Given the description of an element on the screen output the (x, y) to click on. 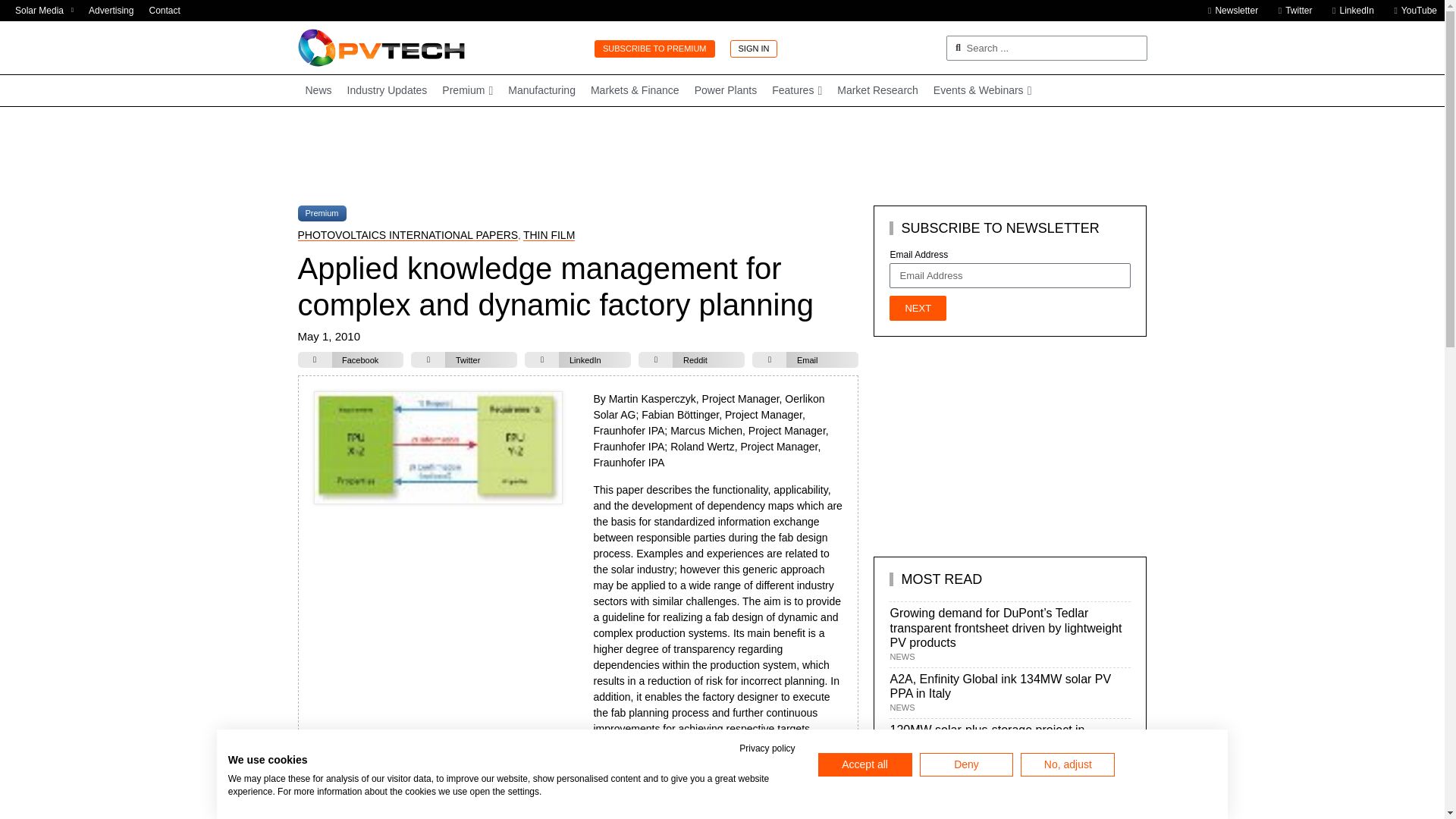
Opens in a new window (1290, 10)
YouTube (1411, 10)
Opens in a new window (1411, 10)
Opens in a new window (44, 10)
Advertising (111, 10)
Twitter (1290, 10)
Premium (466, 90)
Opens in a new window (877, 90)
SIGN IN (753, 48)
News (318, 90)
LinkedIn (1348, 10)
Opens in a new window (1348, 10)
Industry Updates (387, 90)
3rd party ad content (986, 446)
Solar Media (44, 10)
